Given the description of an element on the screen output the (x, y) to click on. 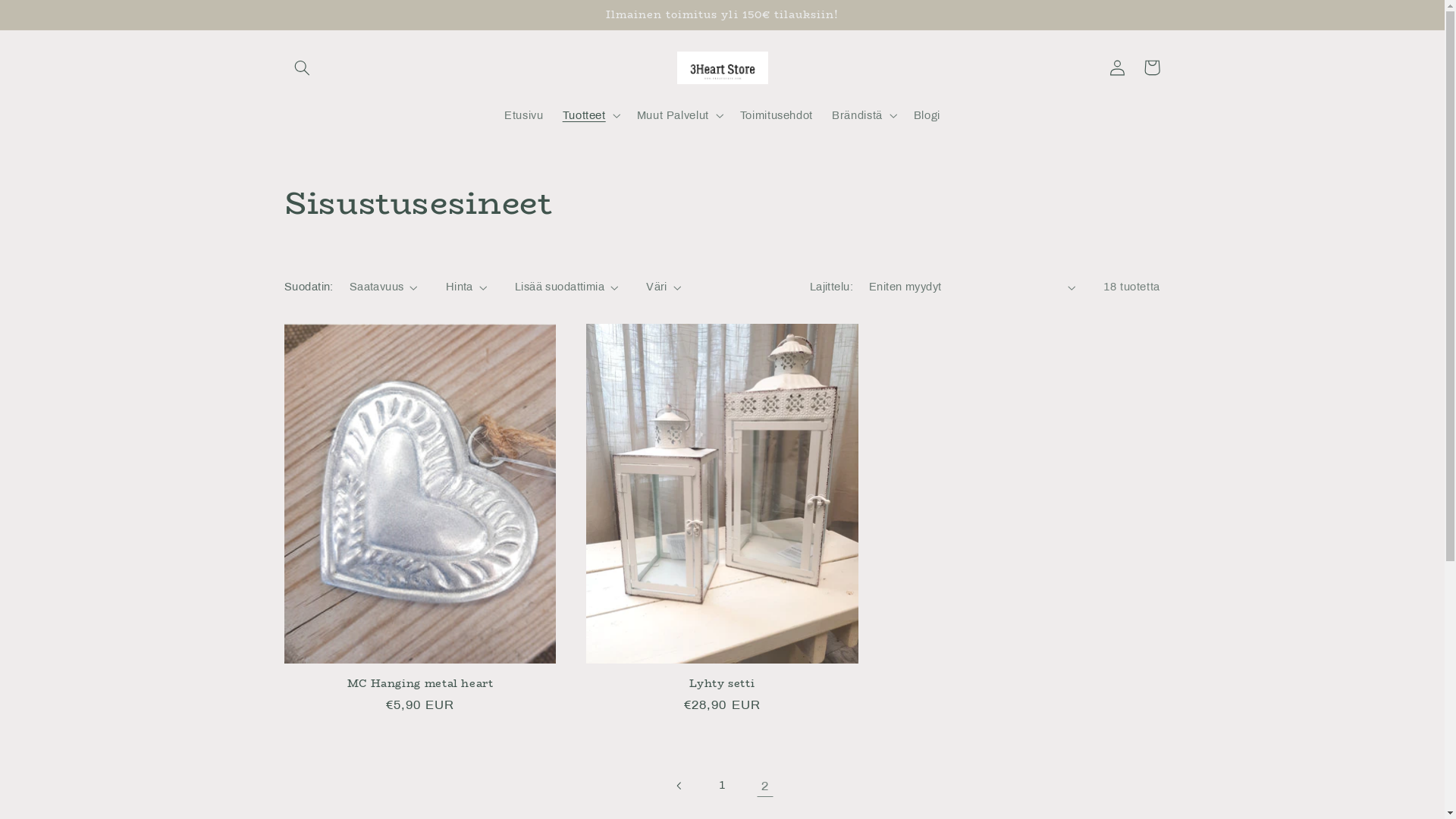
Ostoskori Element type: text (1151, 67)
Blogi Element type: text (926, 114)
MC Hanging metal heart Element type: text (419, 683)
2 Element type: text (764, 785)
Toimitusehdot Element type: text (776, 114)
Lyhty setti Element type: text (721, 683)
1 Element type: text (721, 785)
Etusivu Element type: text (523, 114)
